Given the description of an element on the screen output the (x, y) to click on. 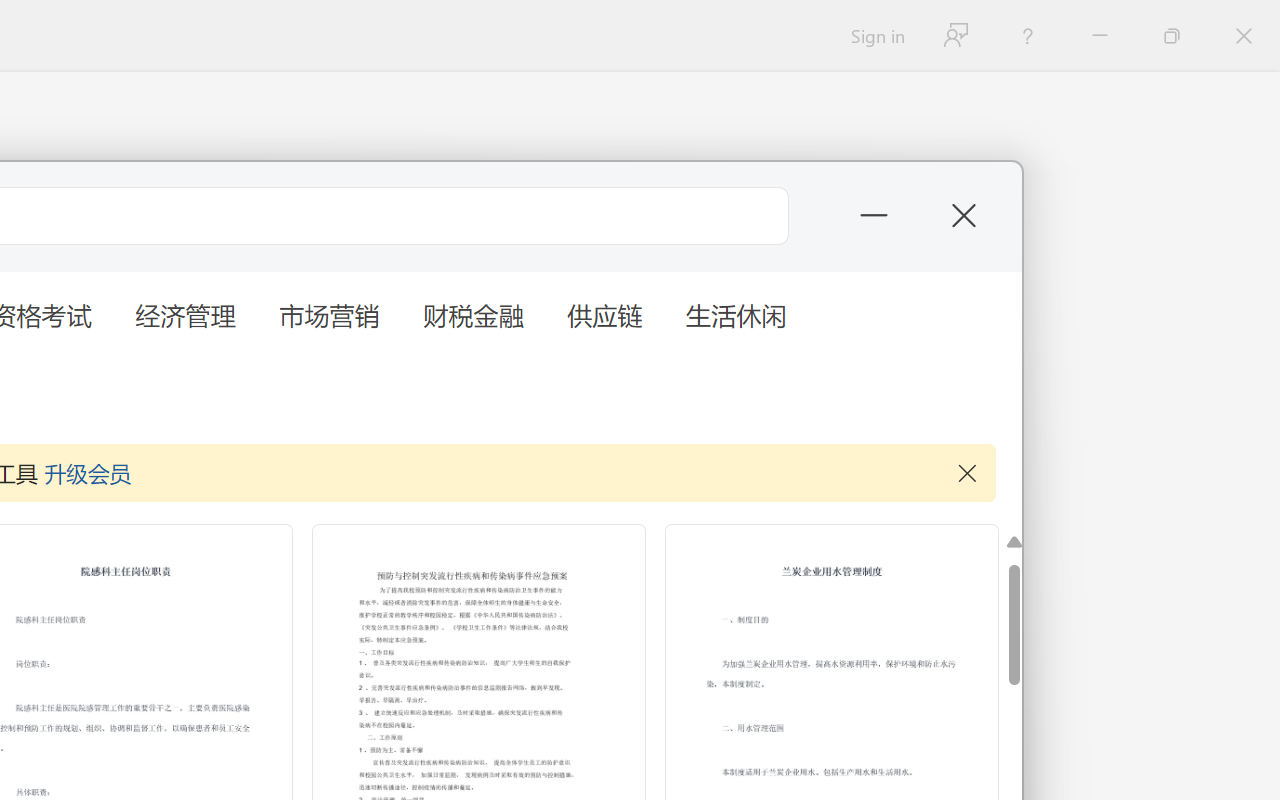
Sign in (875, 35)
